Given the description of an element on the screen output the (x, y) to click on. 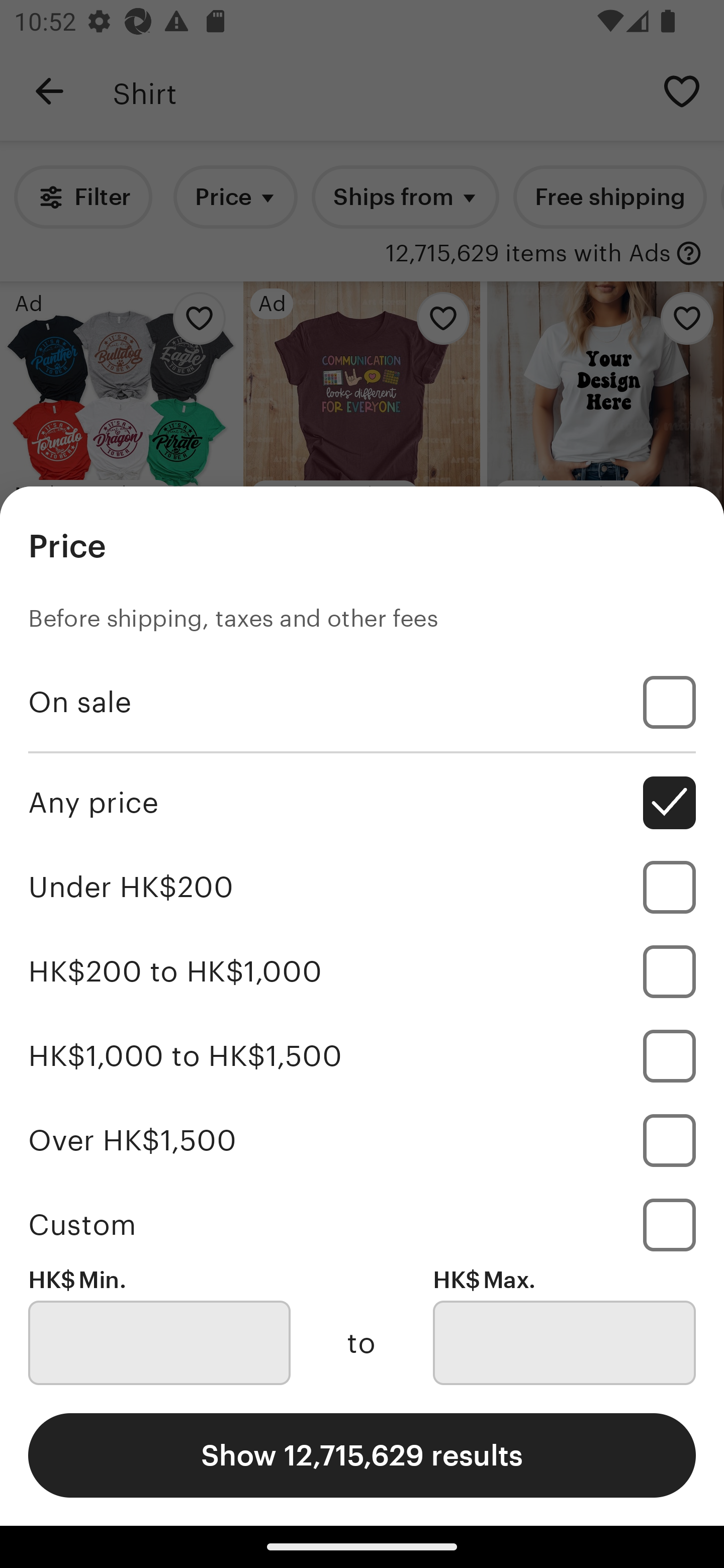
On sale (362, 702)
Any price (362, 802)
Under HK$200 (362, 887)
HK$200 to HK$1,000 (362, 970)
HK$1,000 to HK$1,500 (362, 1054)
Over HK$1,500 (362, 1139)
Custom (362, 1224)
Show 12,715,629 results (361, 1454)
